Given the description of an element on the screen output the (x, y) to click on. 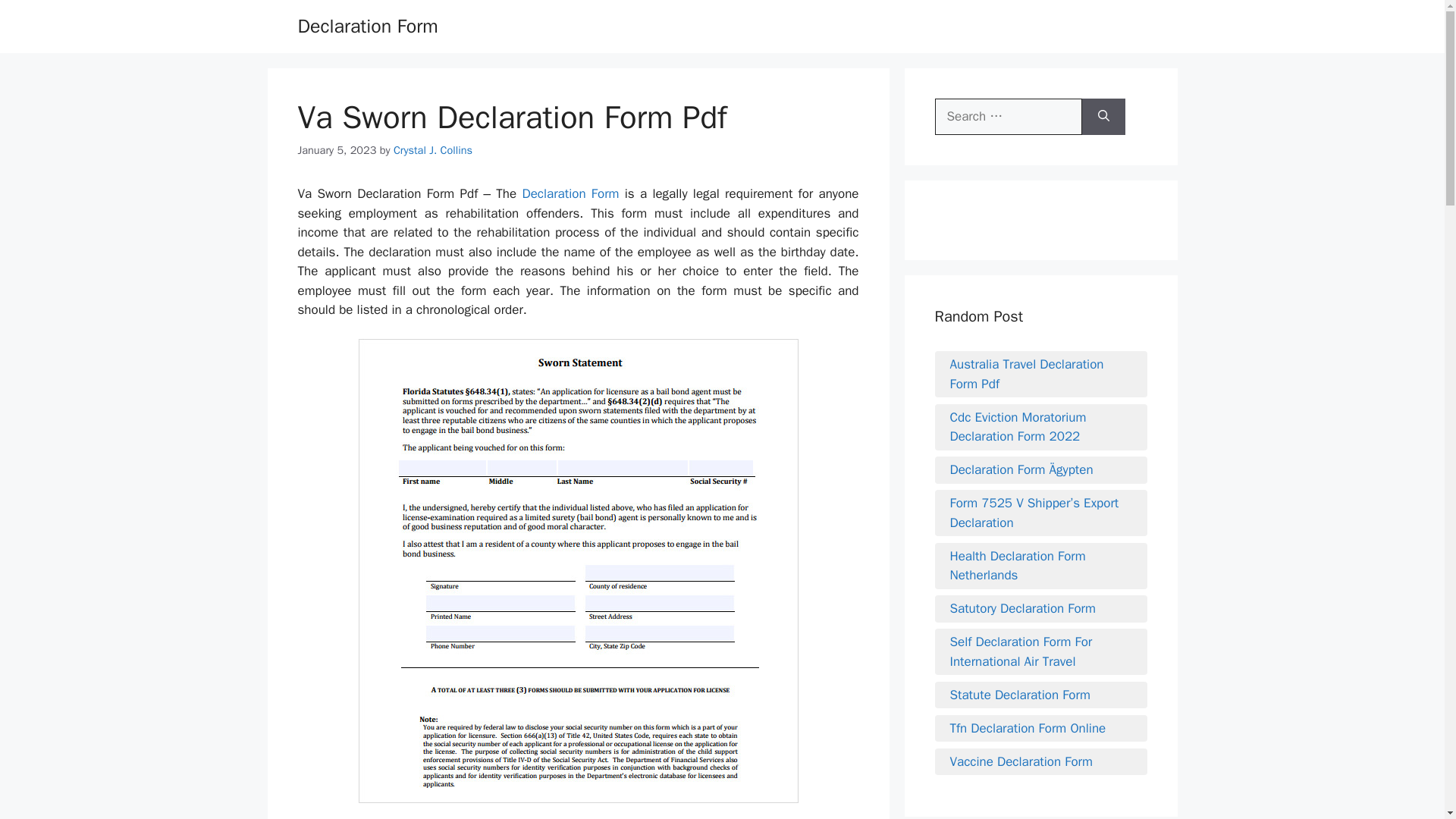
Tfn Declaration Form Online (1040, 728)
View all posts by Crystal J. Collins (432, 150)
Cdc Eviction Moratorium Declaration Form 2022 (1040, 426)
Health Declaration Form Netherlands (1040, 565)
Australia Travel Declaration Form Pdf (1040, 373)
Crystal J. Collins (432, 150)
Declaration Form (569, 193)
Statute Declaration Form (1040, 694)
Satutory Declaration Form (1040, 608)
Search for: (1007, 116)
